Given the description of an element on the screen output the (x, y) to click on. 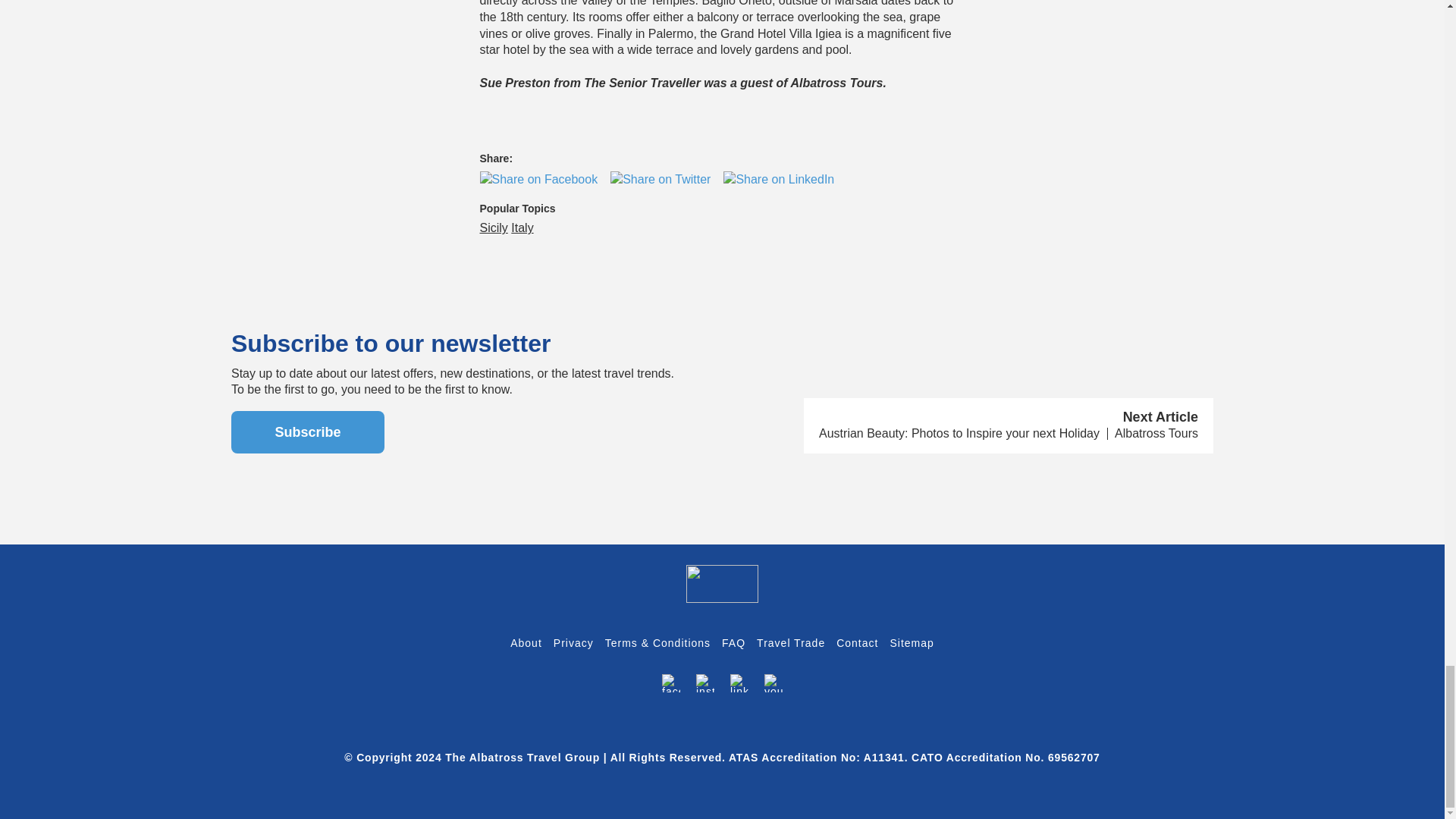
Subscribe (307, 432)
FAQ (733, 643)
Italy (521, 227)
Privacy (573, 643)
Contact (856, 643)
Subscribe (307, 432)
Sitemap (911, 643)
About (526, 643)
Travel Trade (791, 643)
